Given the description of an element on the screen output the (x, y) to click on. 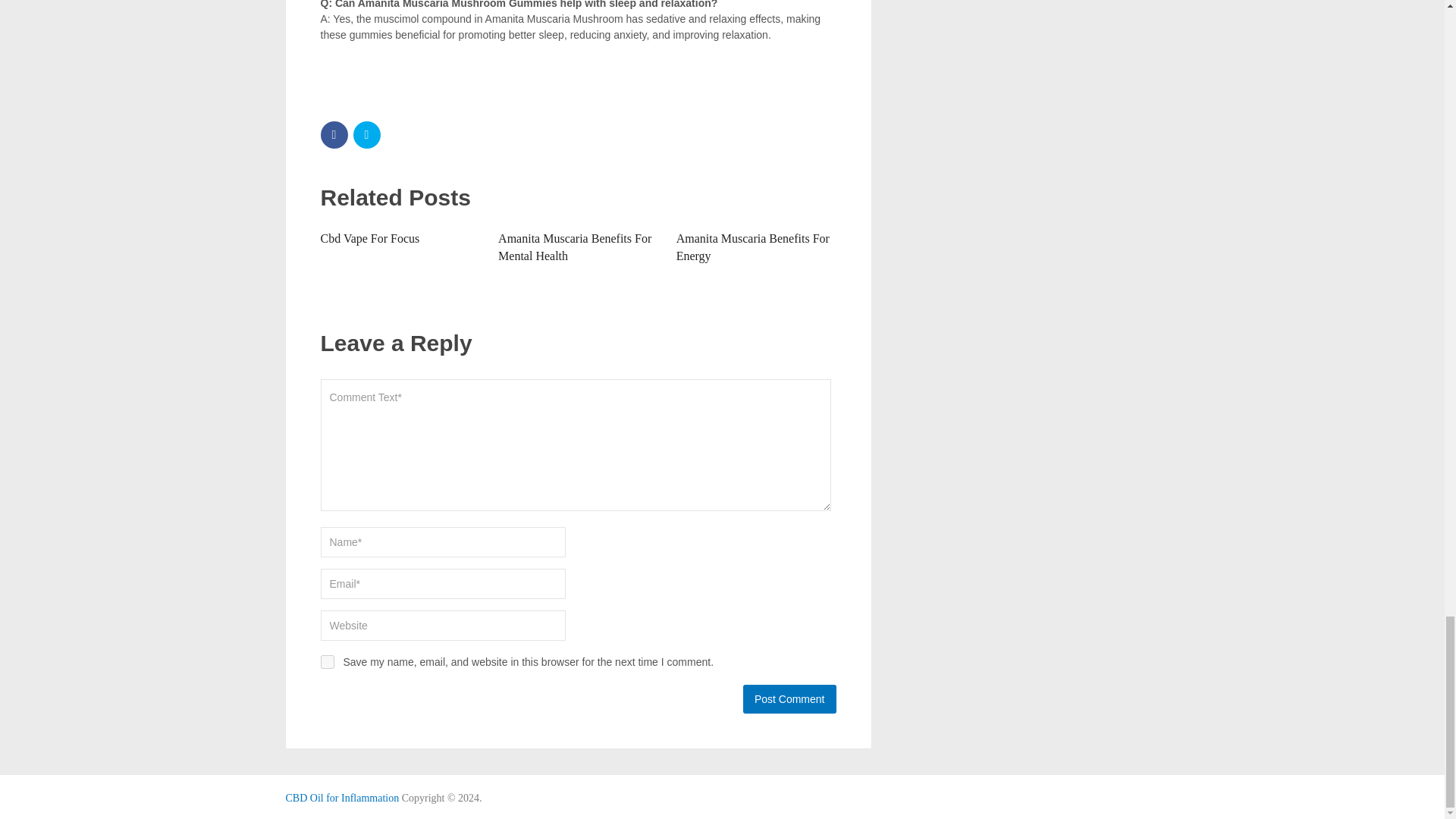
Cbd Vape For Focus (369, 237)
Amanita Muscaria Benefits For Mental Health (573, 246)
Cbd Vape For Focus (369, 237)
Amanita Muscaria Benefits For Energy (753, 246)
Amanita Muscaria Benefits For Mental Health (573, 246)
yes (326, 662)
Post Comment (788, 698)
Post Comment (788, 698)
